Given the description of an element on the screen output the (x, y) to click on. 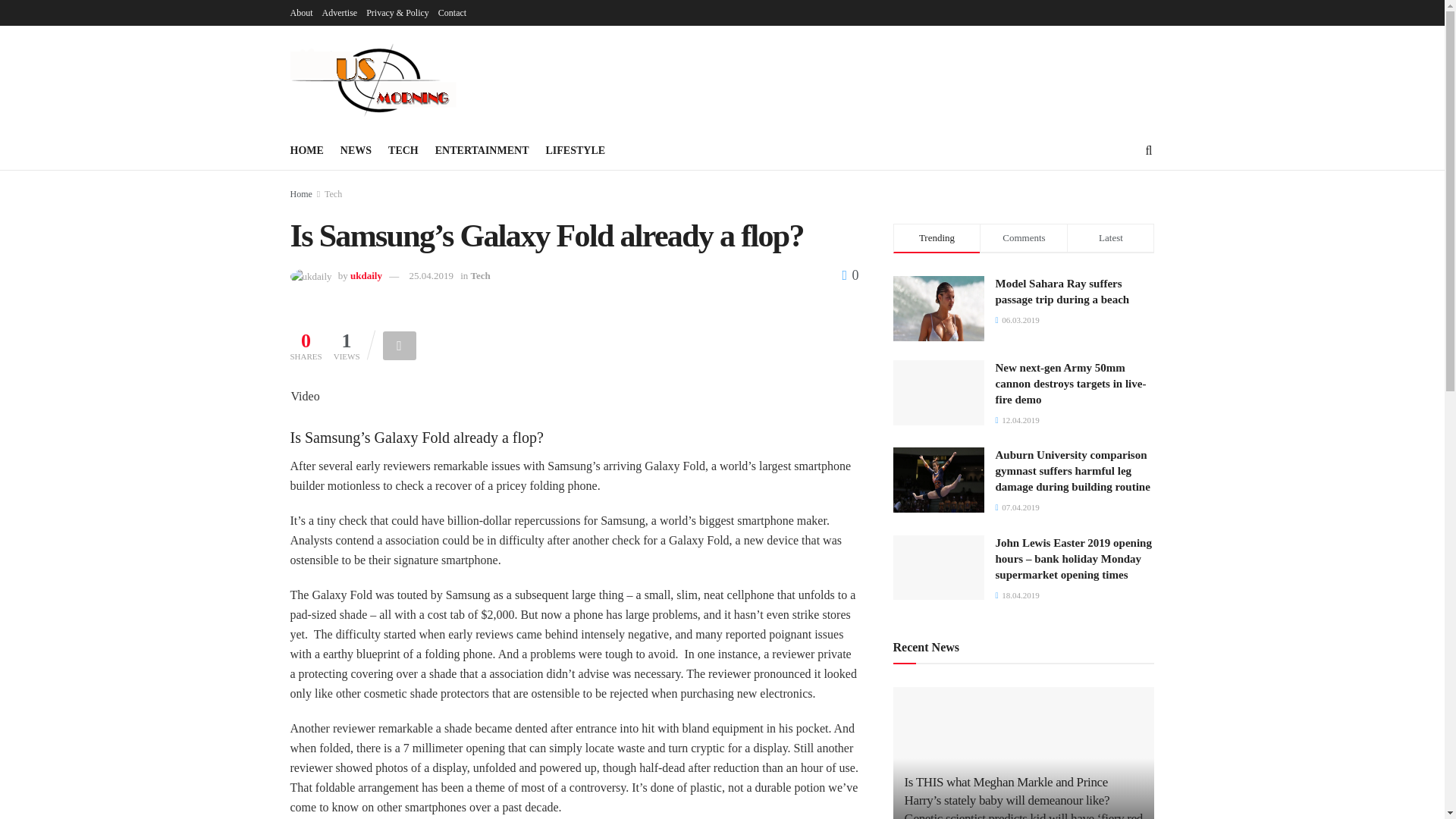
Contact (451, 12)
HOME (306, 150)
TECH (403, 150)
Advertise (338, 12)
NEWS (355, 150)
LIFESTYLE (574, 150)
ENTERTAINMENT (482, 150)
